Given the description of an element on the screen output the (x, y) to click on. 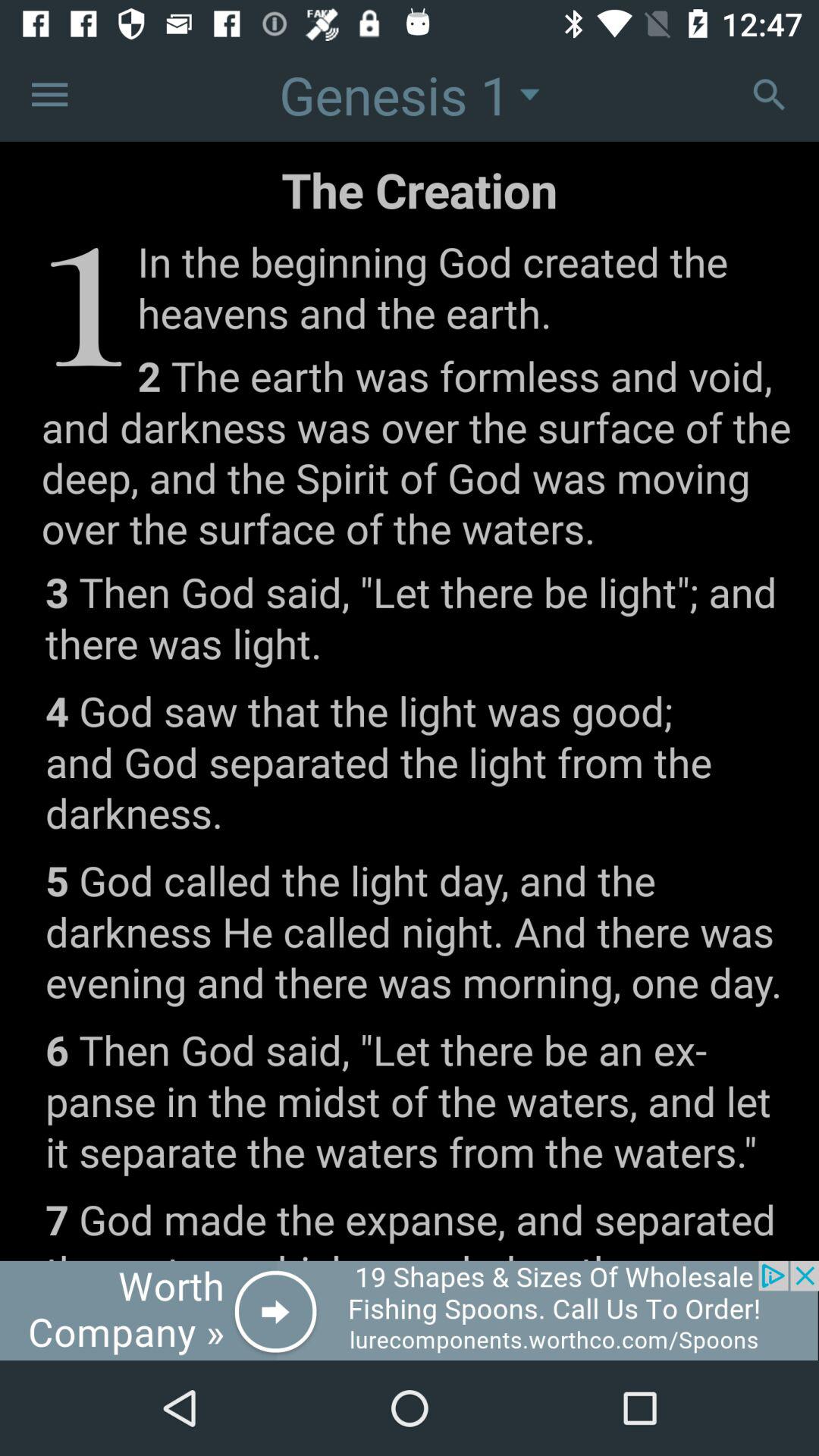
interact with advertisement (409, 1310)
